Given the description of an element on the screen output the (x, y) to click on. 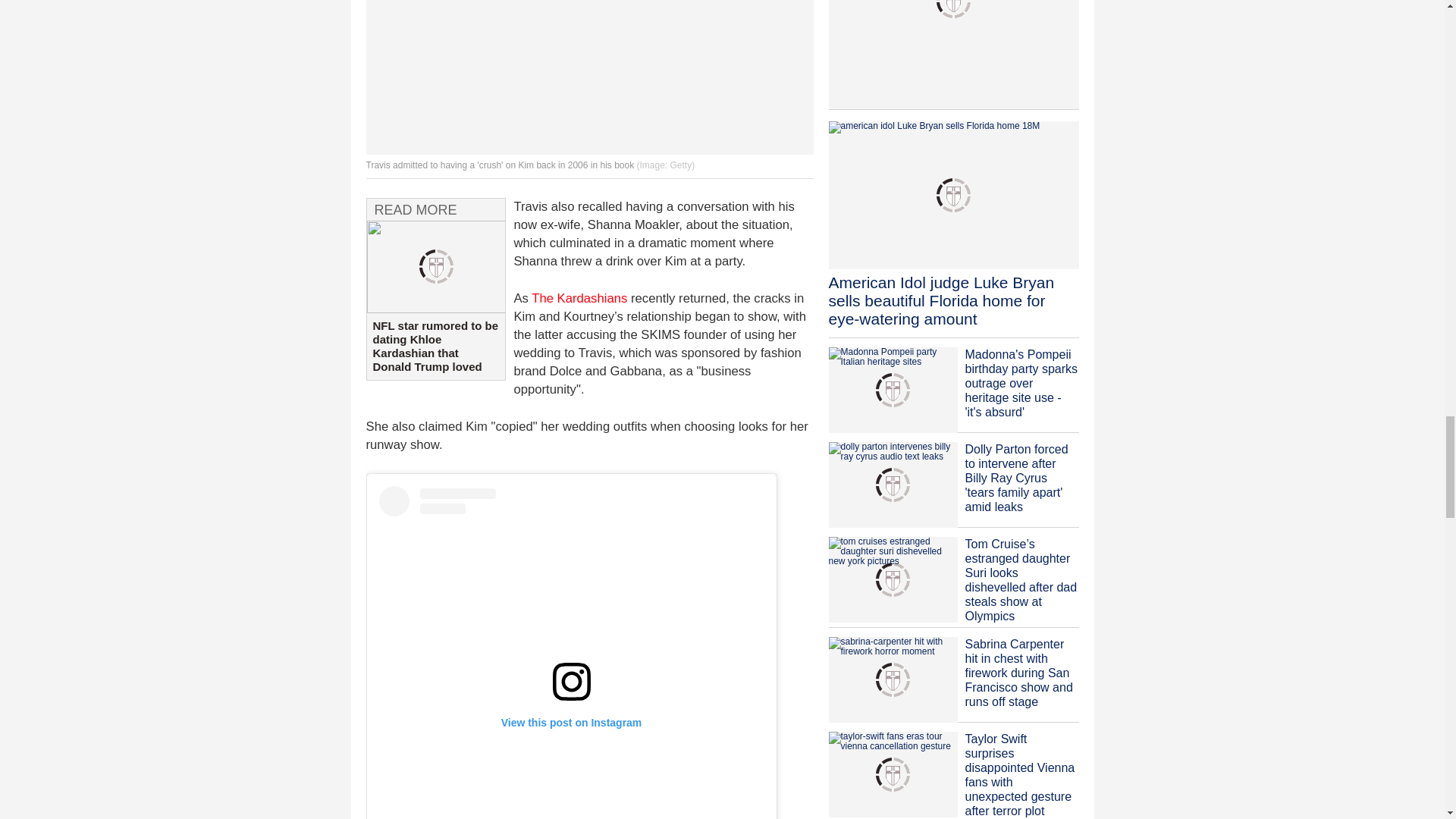
View this post on Instagram (571, 652)
The Kardashians (579, 298)
Travis and Kim  (588, 77)
